Given the description of an element on the screen output the (x, y) to click on. 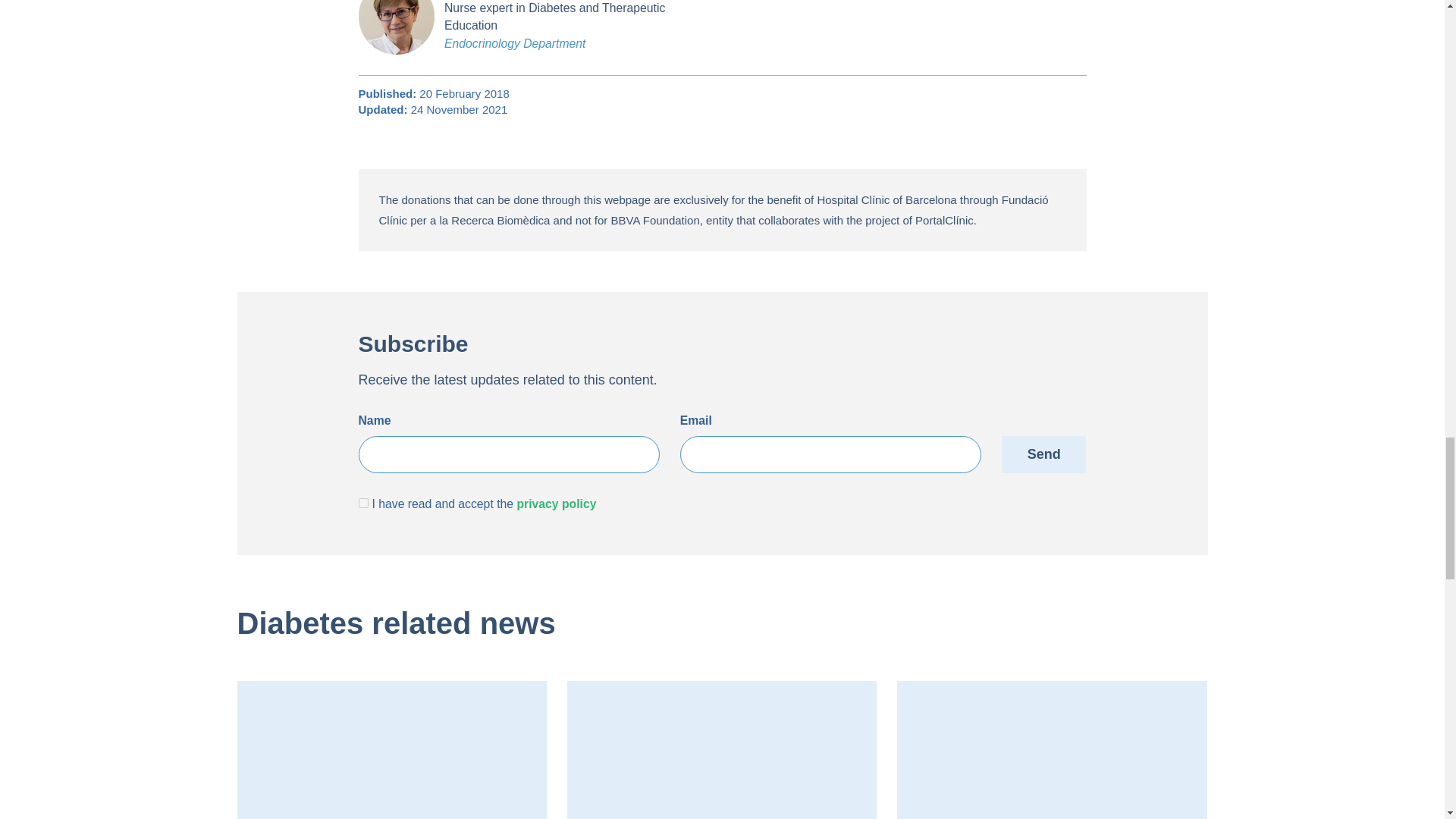
1 (363, 502)
